Given the description of an element on the screen output the (x, y) to click on. 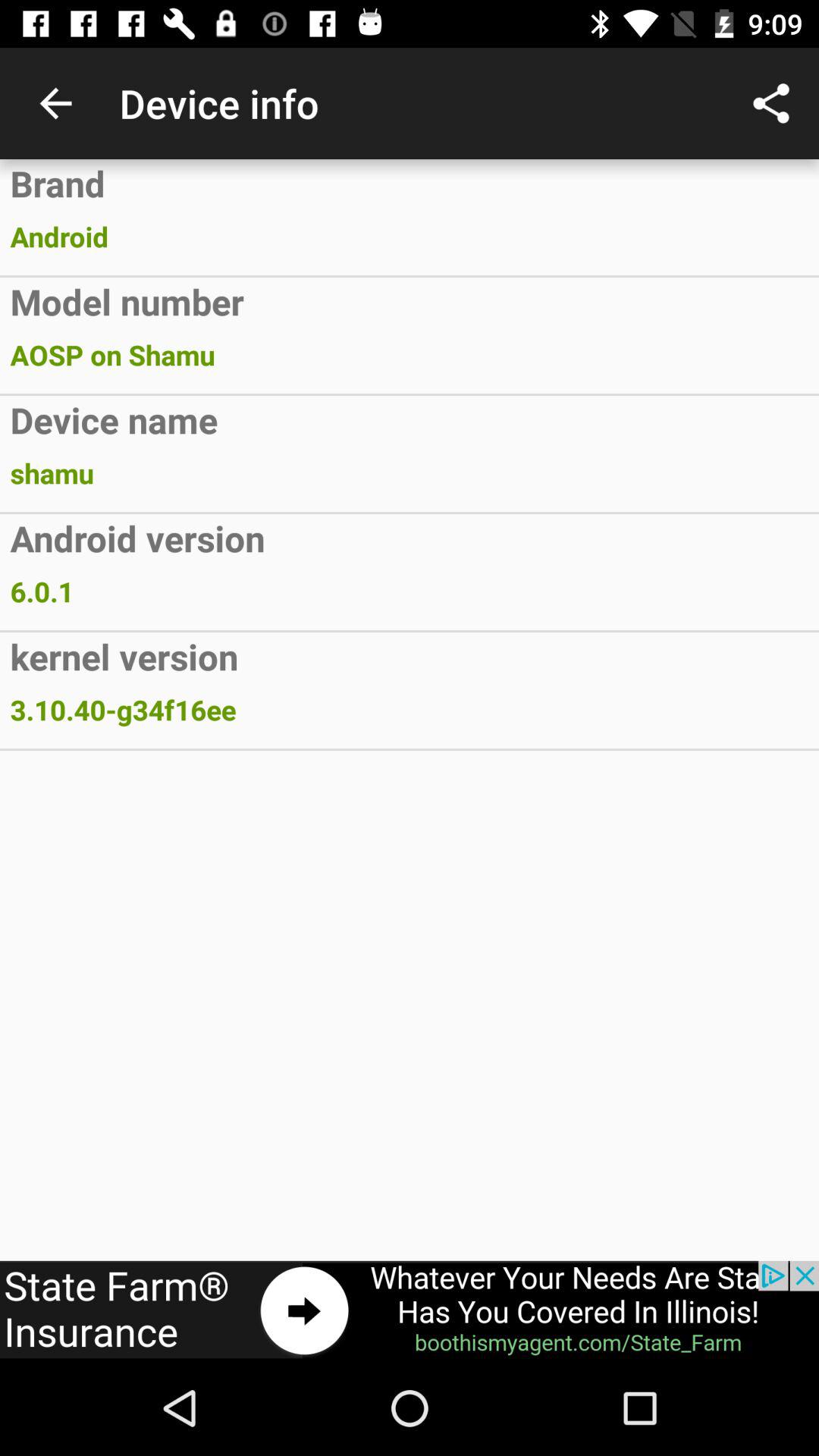
advertisement (409, 1310)
